Given the description of an element on the screen output the (x, y) to click on. 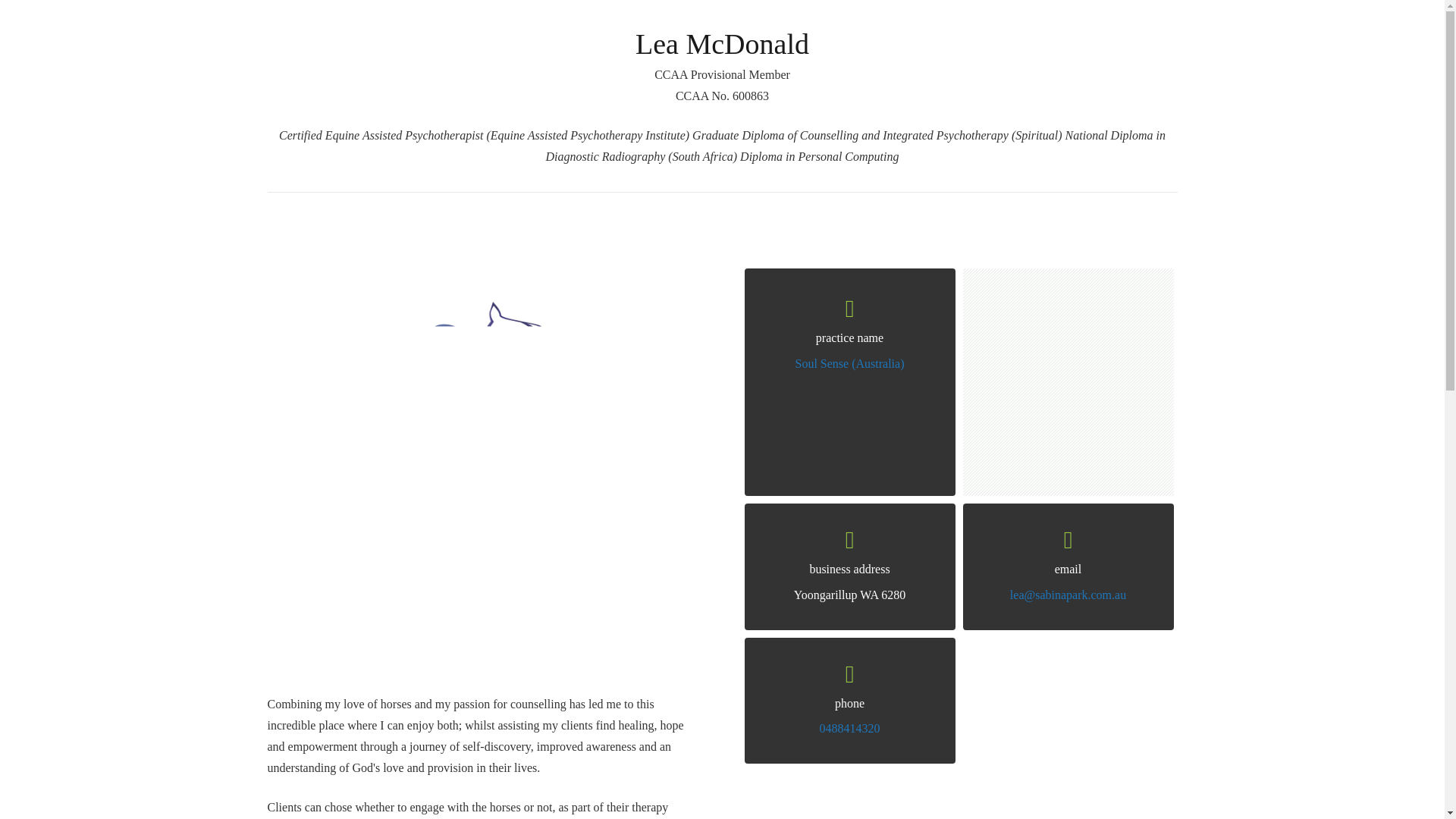
practice name (848, 337)
email (1068, 569)
0488414320 (848, 727)
phone (849, 703)
